Given the description of an element on the screen output the (x, y) to click on. 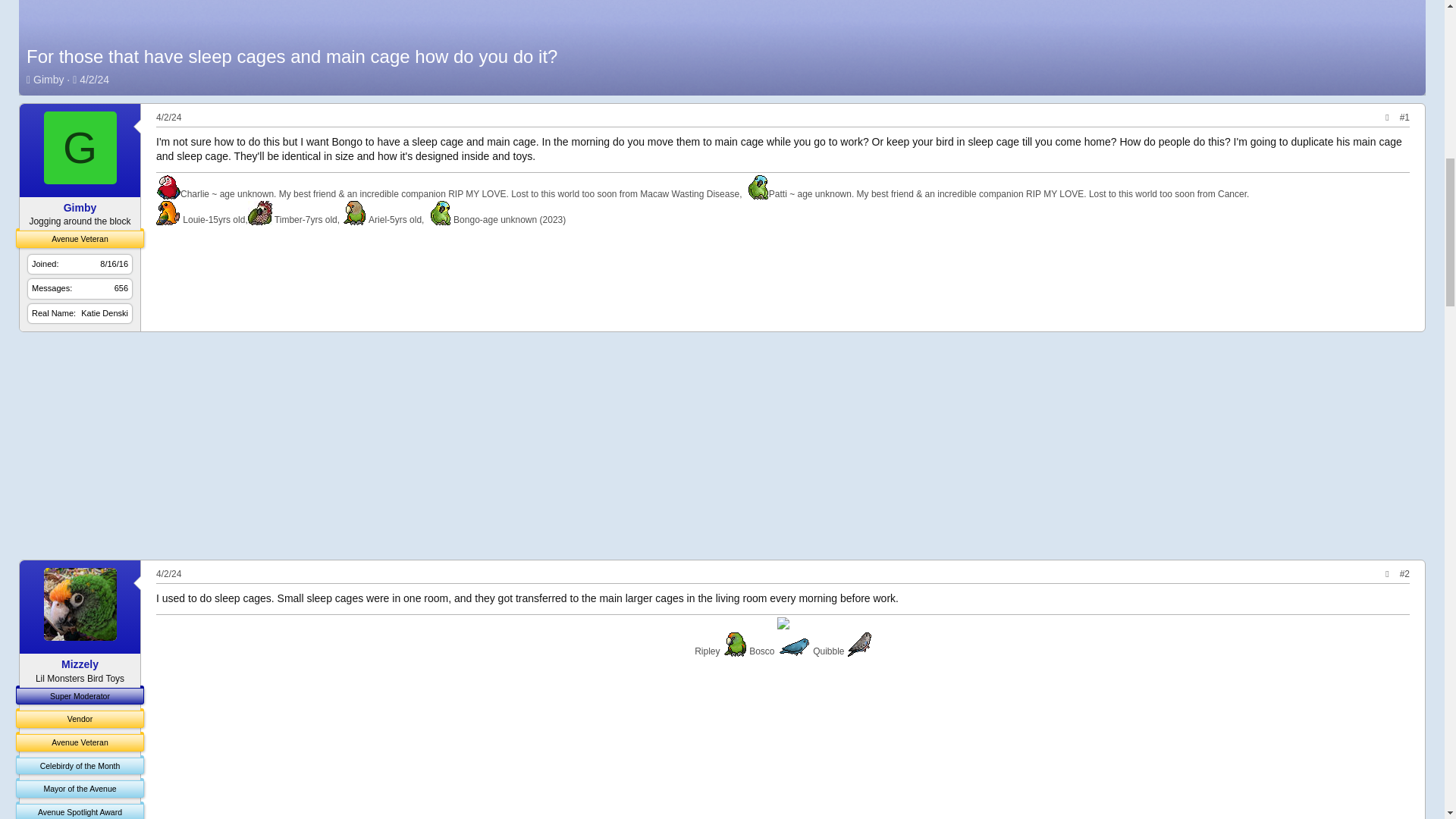
Sun Conure    :sun: (167, 212)
Gimby (48, 79)
Jardine    :jardine: (734, 644)
Orange Wing Amazon    :owa: (438, 212)
Blue Front Amazon    :bfa: (756, 187)
Bourkes    :bourkes1: (858, 644)
Greenwing Macaw    :gwm: (167, 187)
Gimby (80, 207)
G (79, 147)
Mizzely (80, 664)
Hawkhead Parrot    :hawkhead: (259, 212)
Lineolated Parakeet    :blinnie: (793, 646)
